Given the description of an element on the screen output the (x, y) to click on. 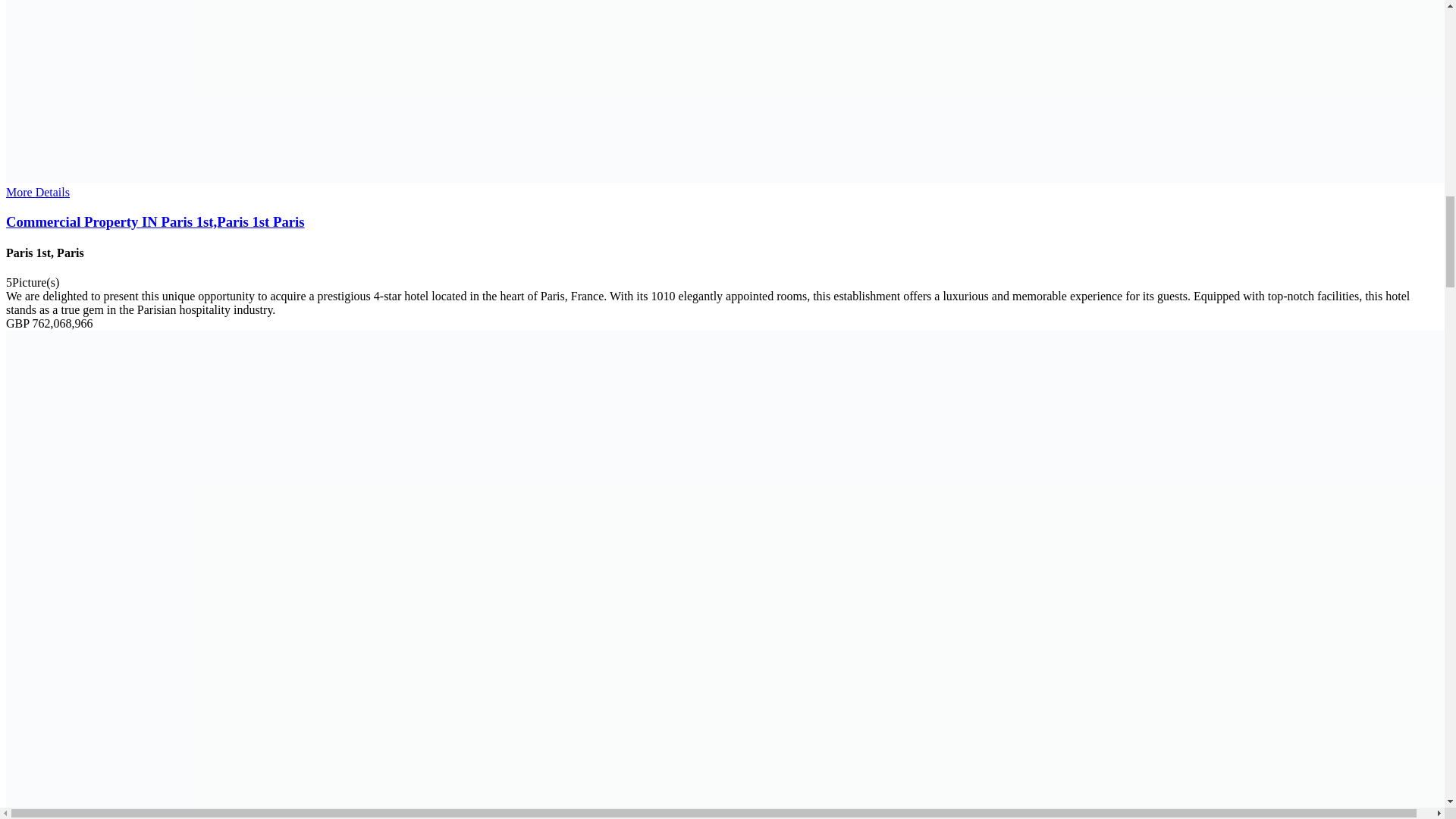
Commercial Property IN Paris 1st,Paris 1st Paris (721, 221)
More Details (37, 192)
COMMERCIAL PROPERTY IN PARIS 1ST,PARIS 1ST PARIS (721, 221)
